Given the description of an element on the screen output the (x, y) to click on. 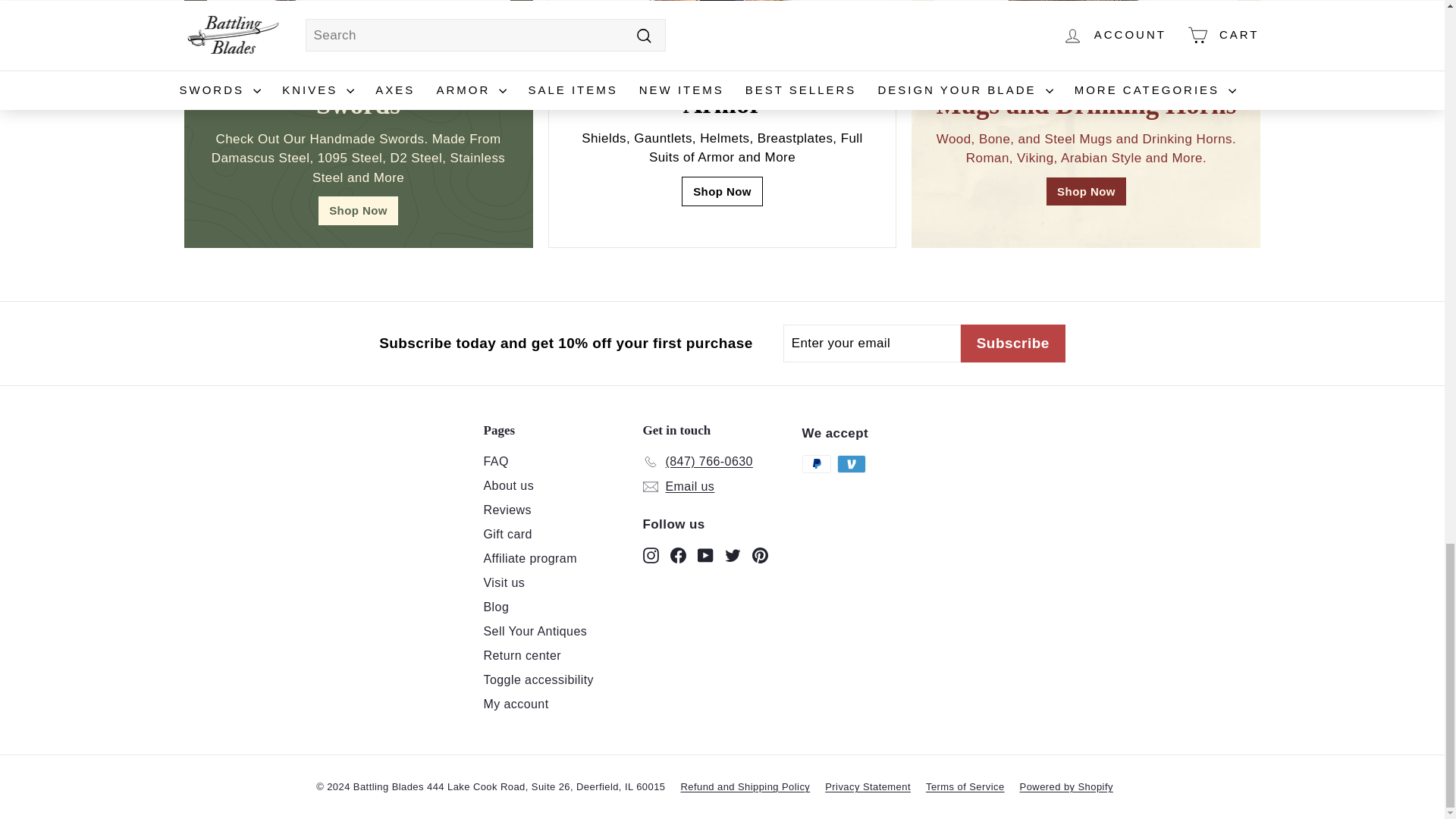
twitter (733, 555)
instagram (651, 555)
PayPal (816, 464)
Venmo (851, 464)
